Given the description of an element on the screen output the (x, y) to click on. 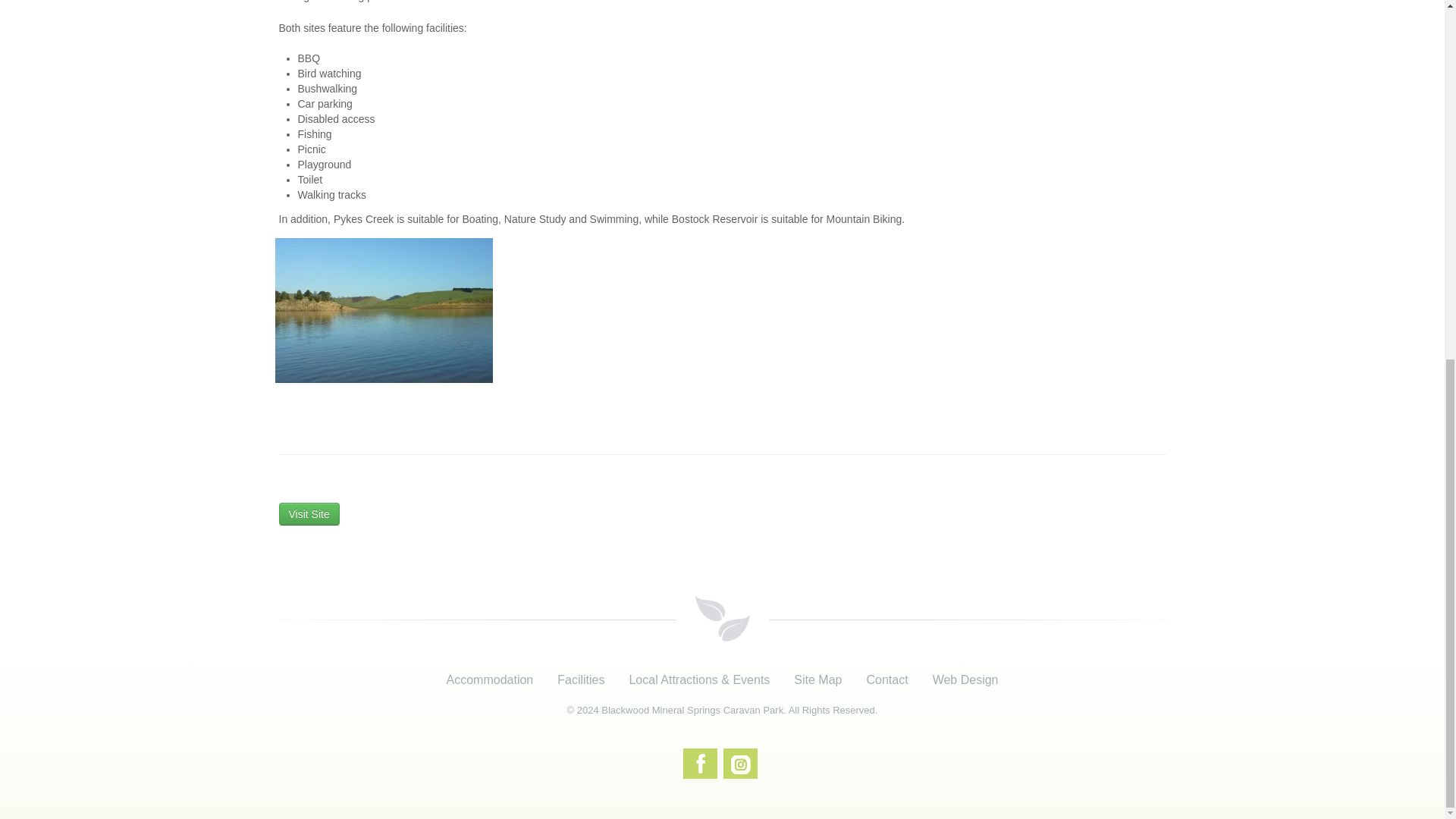
Contact (886, 679)
Accommodation (489, 679)
Follow us on Instagram (740, 763)
Site Map (817, 679)
Visit Site (309, 513)
Facilities (579, 679)
Like us on Facebook (699, 763)
